Given the description of an element on the screen output the (x, y) to click on. 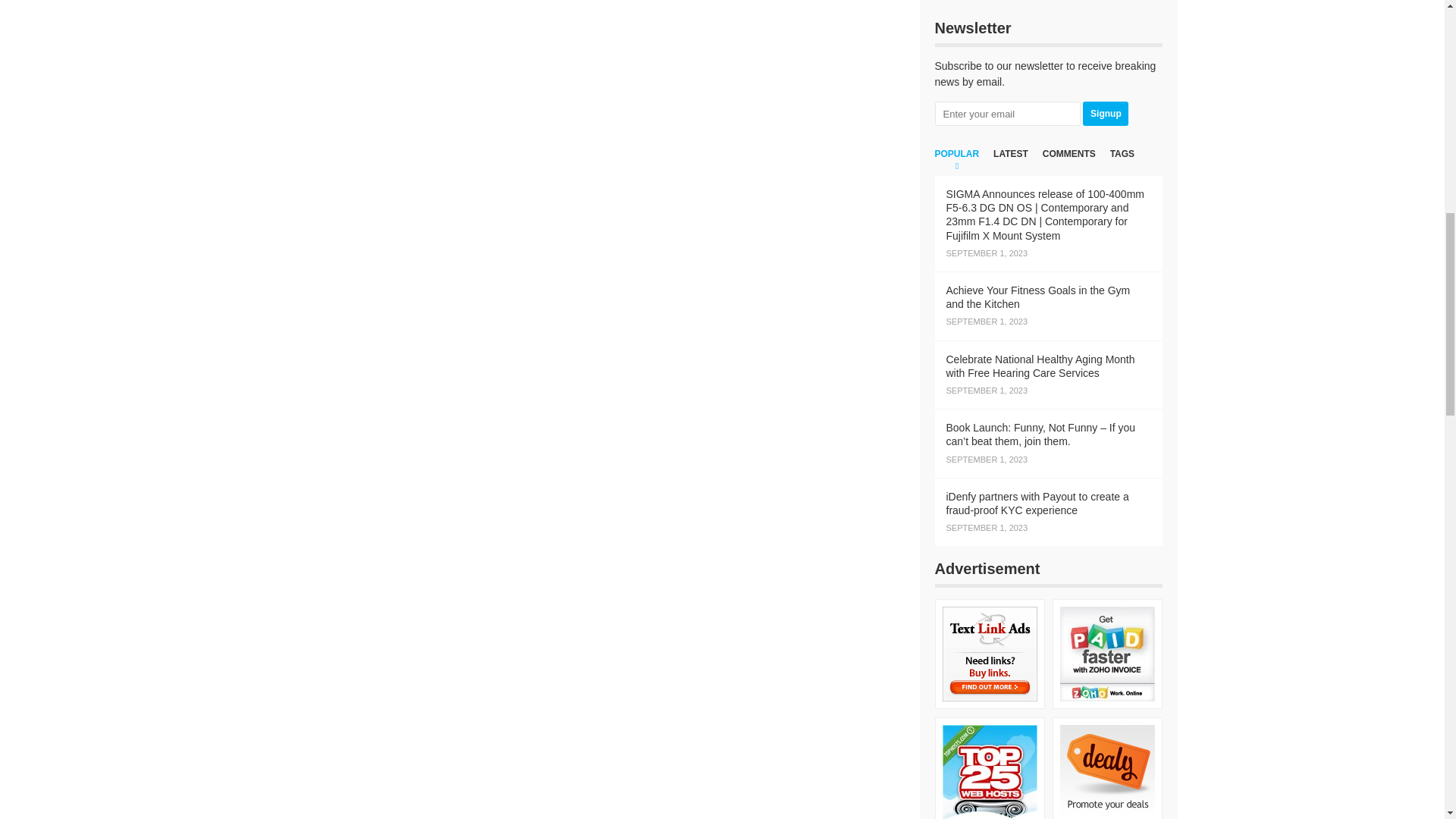
Latest (1009, 162)
Tags (1121, 162)
Comments (1069, 162)
Popular (956, 162)
